Given the description of an element on the screen output the (x, y) to click on. 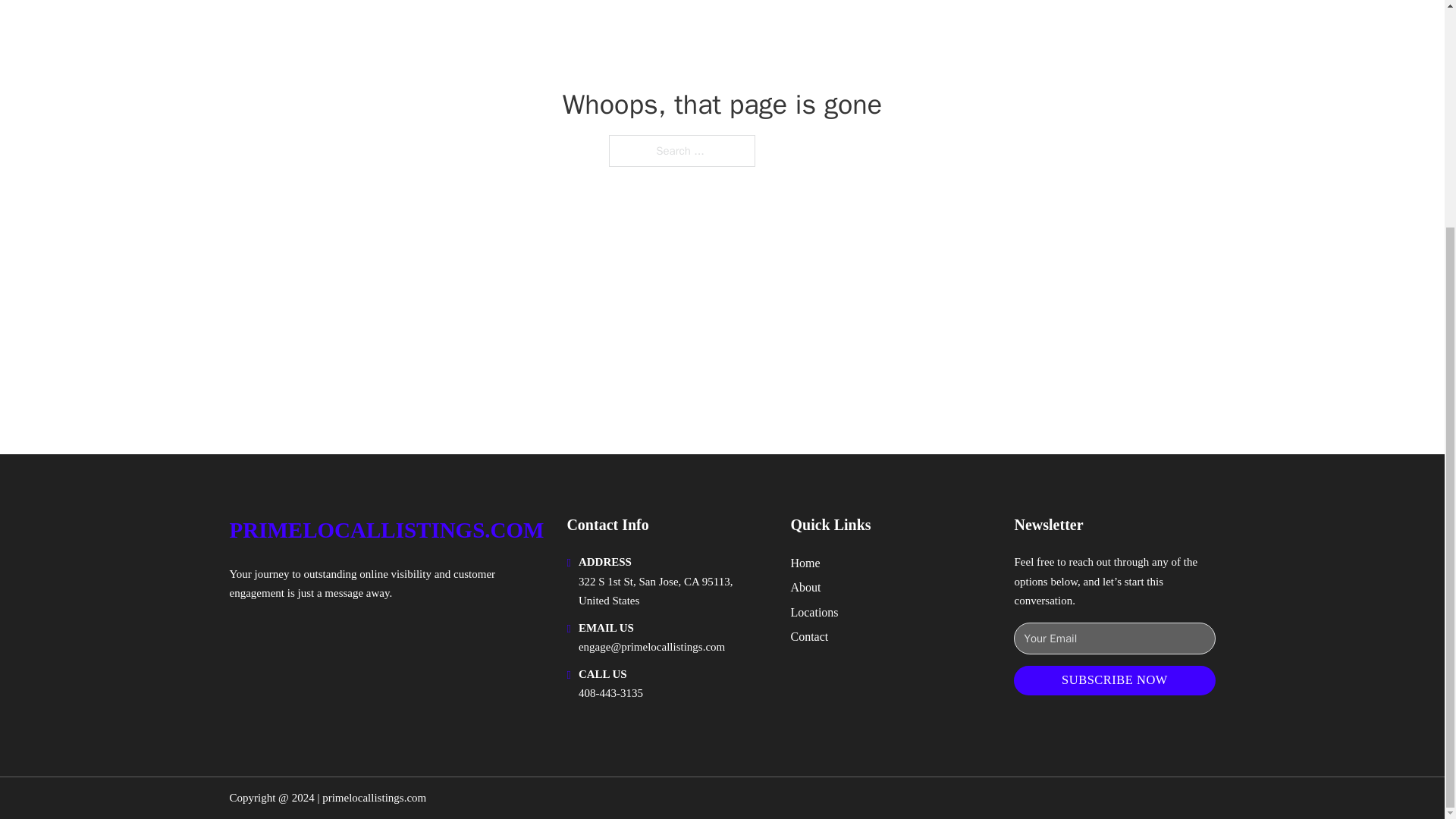
SUBSCRIBE NOW (1113, 680)
PRIMELOCALLISTINGS.COM (385, 529)
Locations (814, 611)
Contact (809, 636)
408-443-3135 (610, 693)
About (805, 587)
Home (804, 562)
